Given the description of an element on the screen output the (x, y) to click on. 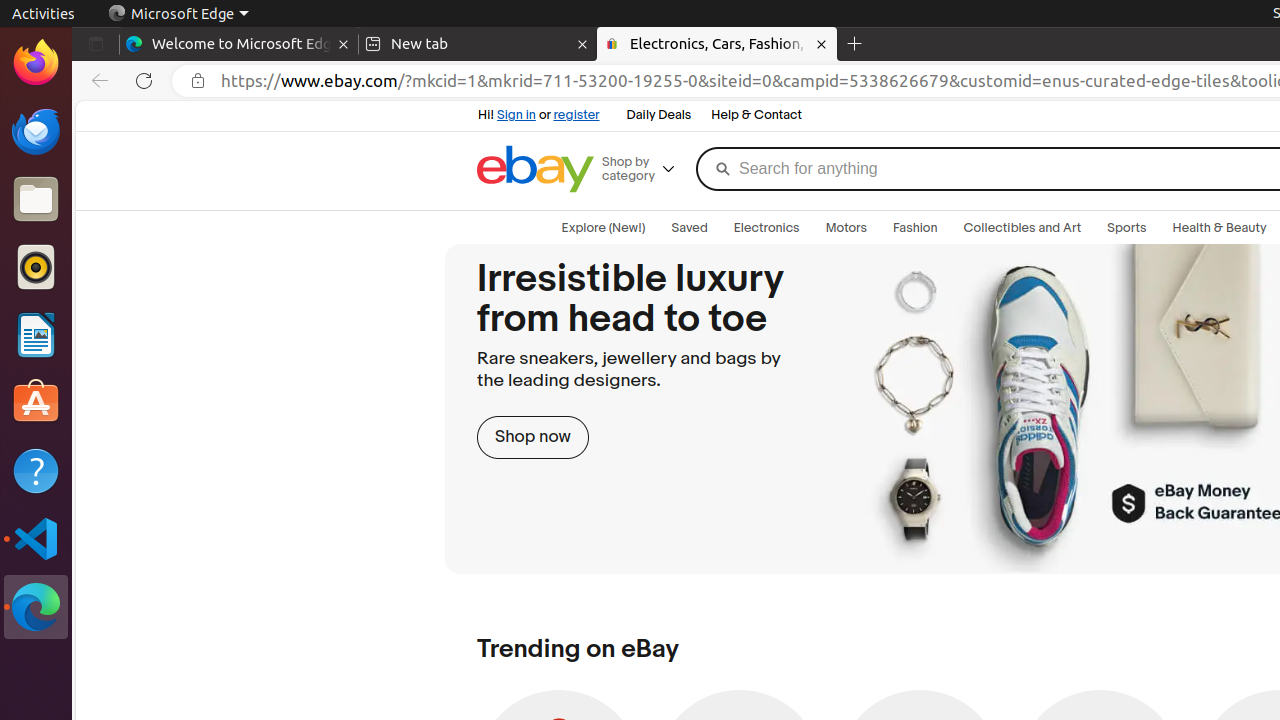
Firefox Web Browser Element type: push-button (36, 63)
Fashion Element type: link (915, 228)
Help Element type: push-button (36, 470)
New Tab Element type: push-button (855, 44)
Collectibles and Art Element type: link (1022, 228)
